Given the description of an element on the screen output the (x, y) to click on. 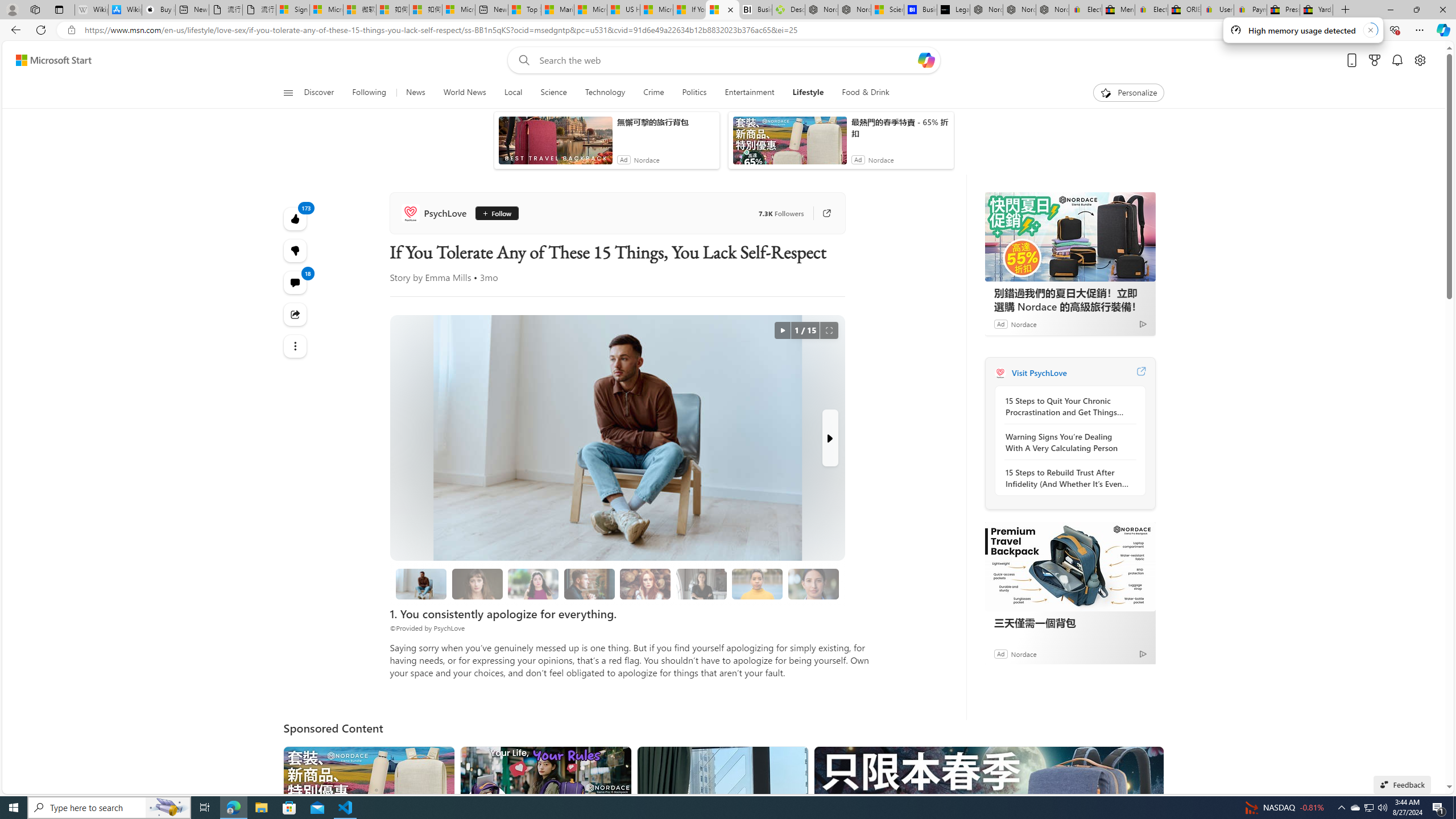
Wikipedia - Sleeping (91, 9)
Microsoft account | Account Checkup (458, 9)
8. Surround yourself with solution-oriented people. (700, 583)
Next Slide (829, 437)
Lifestyle (807, 92)
Entertainment (748, 92)
